Given the description of an element on the screen output the (x, y) to click on. 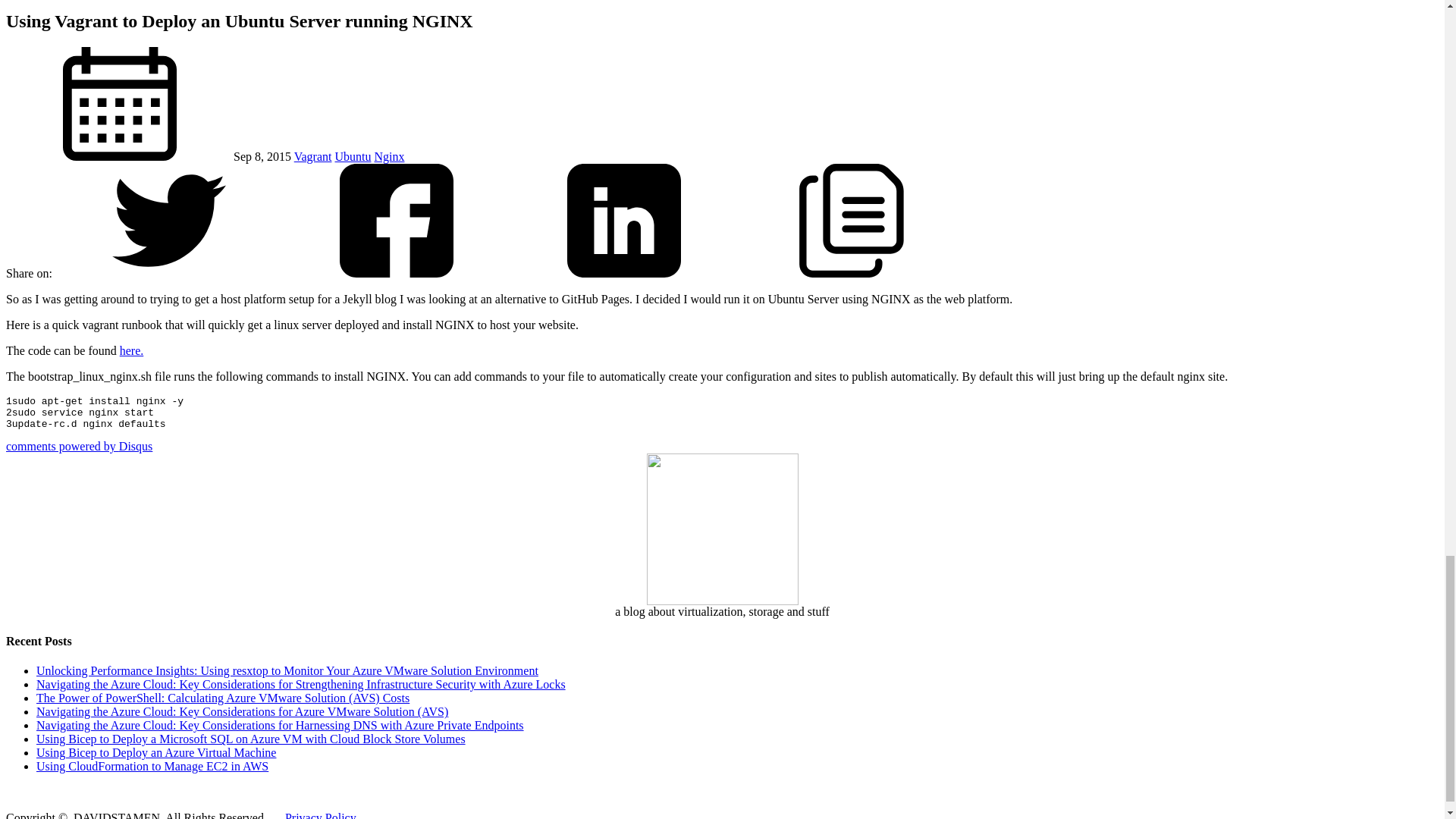
Vagrant (312, 155)
comments powered by Disqus (78, 445)
here. (131, 350)
Share on LinkedIn (624, 273)
Share on Twitter (168, 273)
Ubuntu (352, 155)
Nginx (389, 155)
Share on Facebook (396, 273)
Using Bicep to Deploy an Azure Virtual Machine (156, 752)
